Given the description of an element on the screen output the (x, y) to click on. 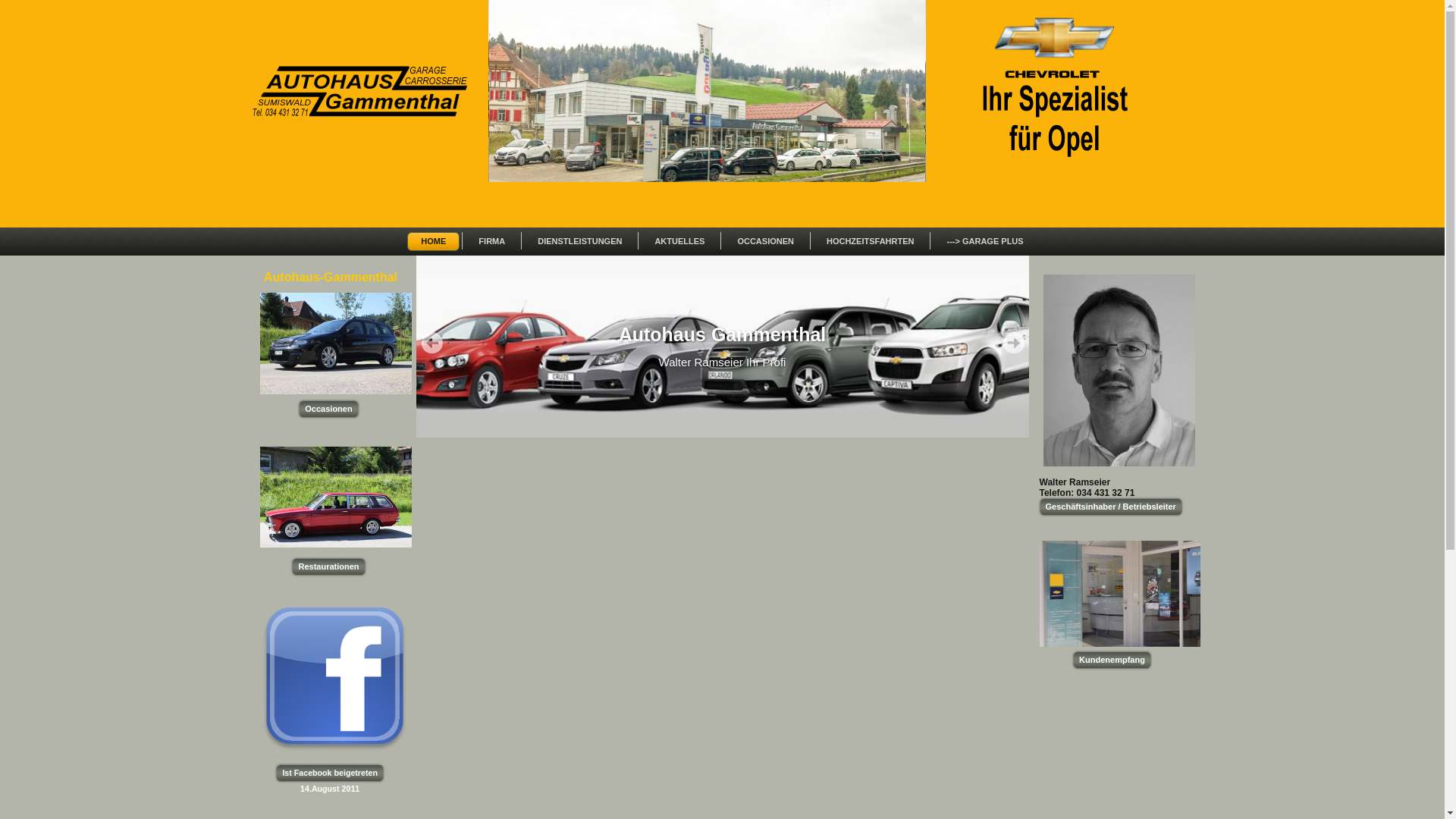
Restaurationen Element type: text (327, 566)
DIENSTLEISTUNGEN Element type: text (579, 241)
> Element type: text (1013, 342)
Occasionen Element type: text (327, 408)
OCCASIONEN Element type: text (765, 241)
HOME Element type: text (433, 241)
HOCHZEITSFAHRTEN Element type: text (870, 241)
< Element type: text (431, 342)
Kundenempfang Element type: text (1112, 659)
AKTUELLES Element type: text (679, 241)
Ist Facebook beigetreten
14.August 2011 Element type: text (329, 772)
---> GARAGE PLUS Element type: text (984, 241)
FIRMA Element type: text (491, 241)
